Given the description of an element on the screen output the (x, y) to click on. 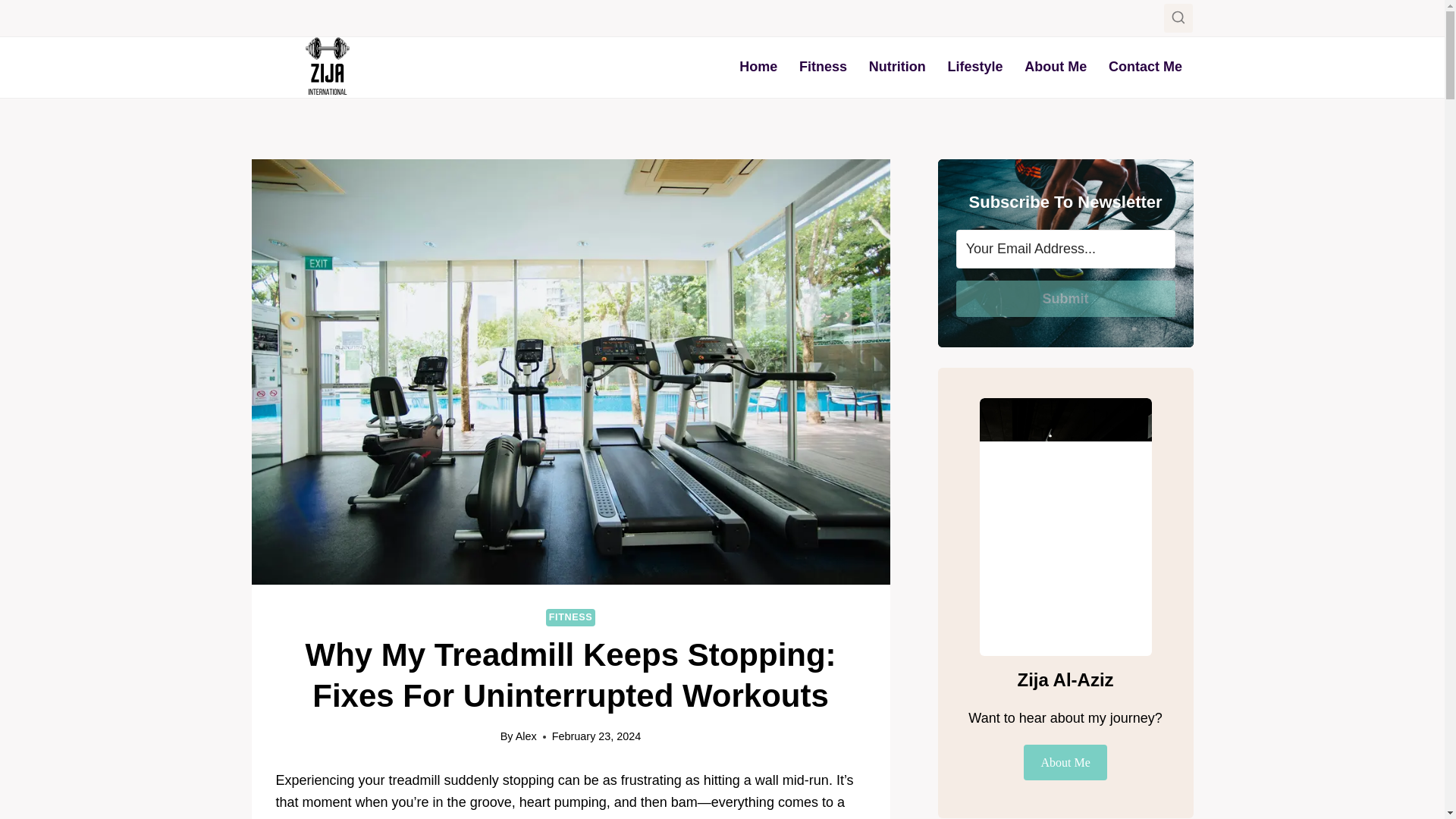
Alex (526, 736)
Contact Me (1145, 66)
FITNESS (570, 617)
Fitness (824, 66)
Nutrition (896, 66)
About Me (1055, 66)
Home (759, 66)
Lifestyle (974, 66)
